Given the description of an element on the screen output the (x, y) to click on. 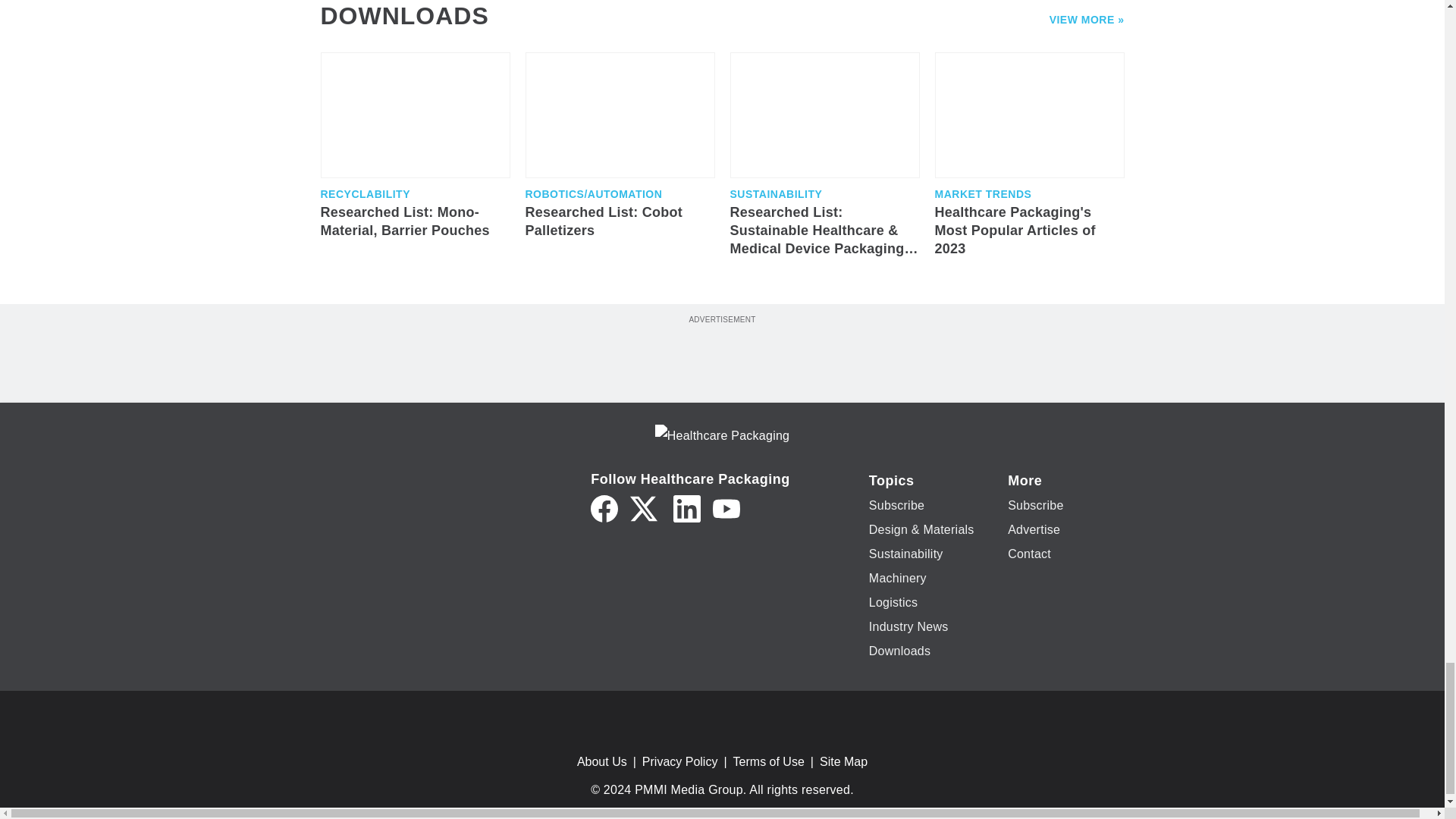
Twitter X icon (644, 508)
Facebook icon (604, 508)
LinkedIn icon (686, 508)
YouTube icon (726, 508)
